Given the description of an element on the screen output the (x, y) to click on. 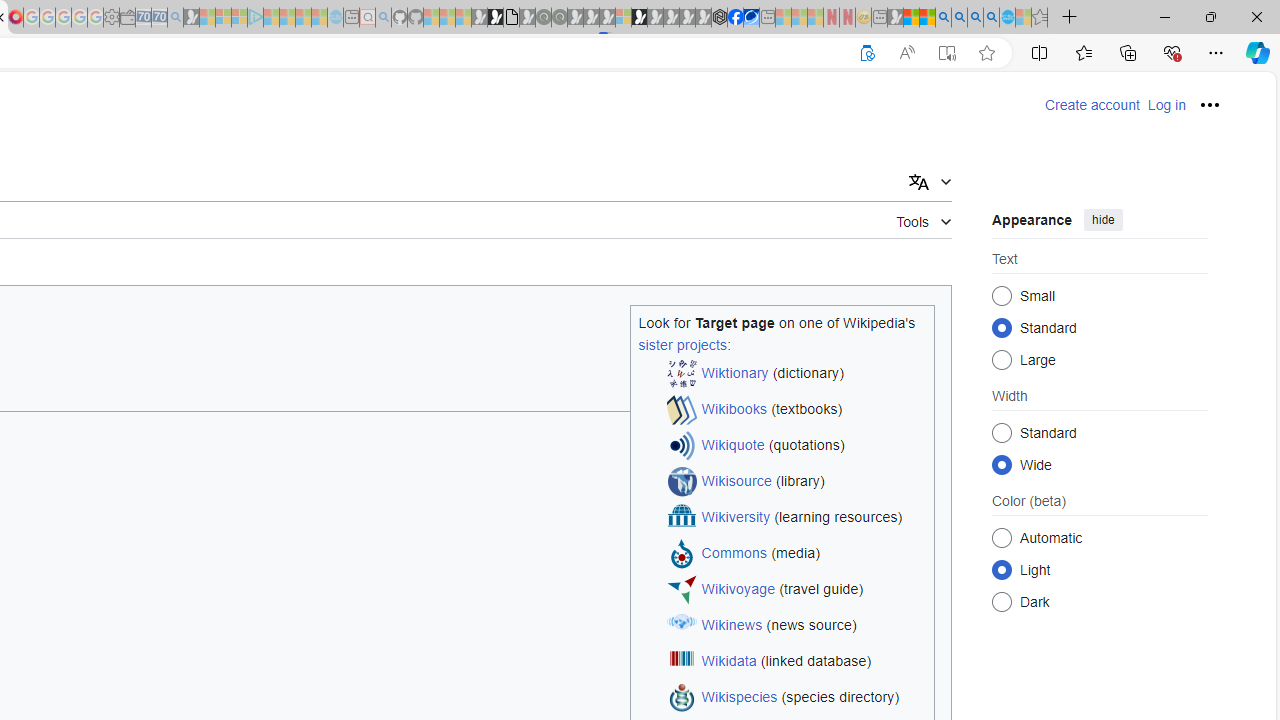
Log in (1166, 105)
Wikinews (731, 625)
Log in (1166, 105)
Enter Immersive Reader (F9) (946, 53)
Wikisource (library) (796, 482)
Play Zoo Boom in your browser | Games from Microsoft Start (495, 17)
github - Search - Sleeping (383, 17)
Large (1002, 359)
